Given the description of an element on the screen output the (x, y) to click on. 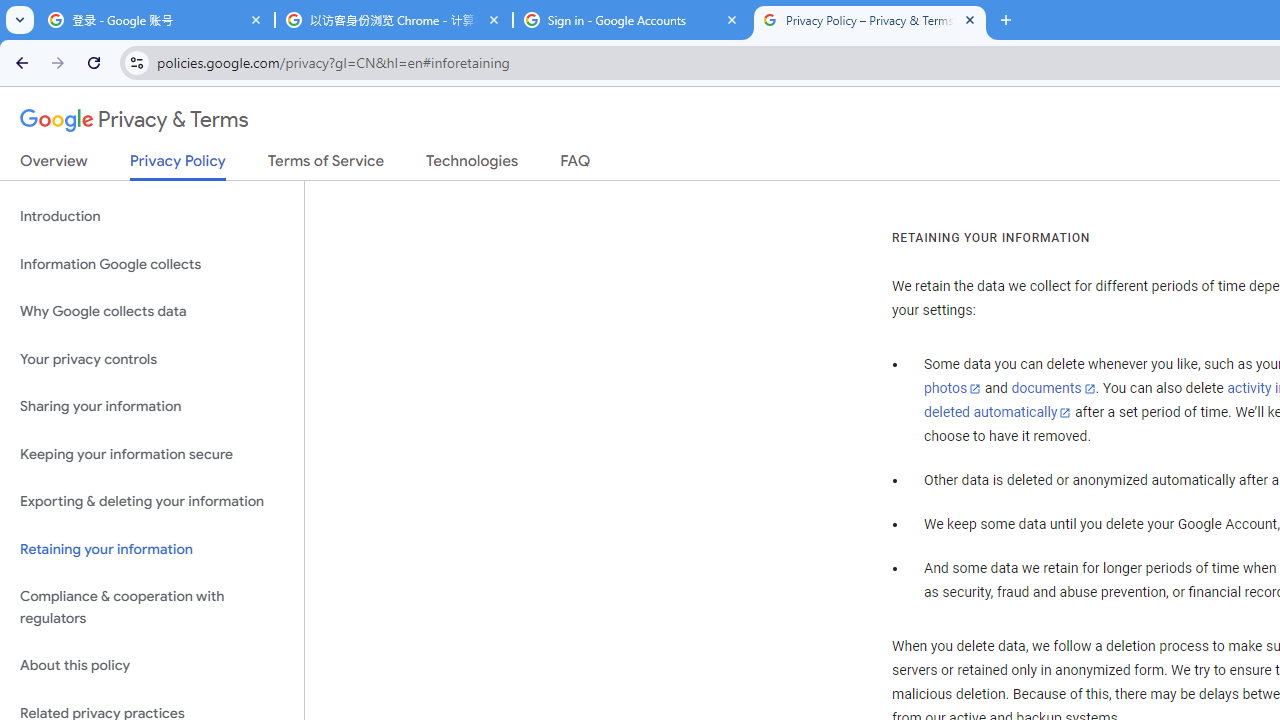
Sharing your information (152, 407)
Retaining your information (152, 548)
Your privacy controls (152, 358)
Sign in - Google Accounts (632, 20)
Keeping your information secure (152, 453)
Compliance & cooperation with regulators (152, 607)
documents (1053, 389)
Why Google collects data (152, 312)
About this policy (152, 666)
Information Google collects (152, 263)
